Given the description of an element on the screen output the (x, y) to click on. 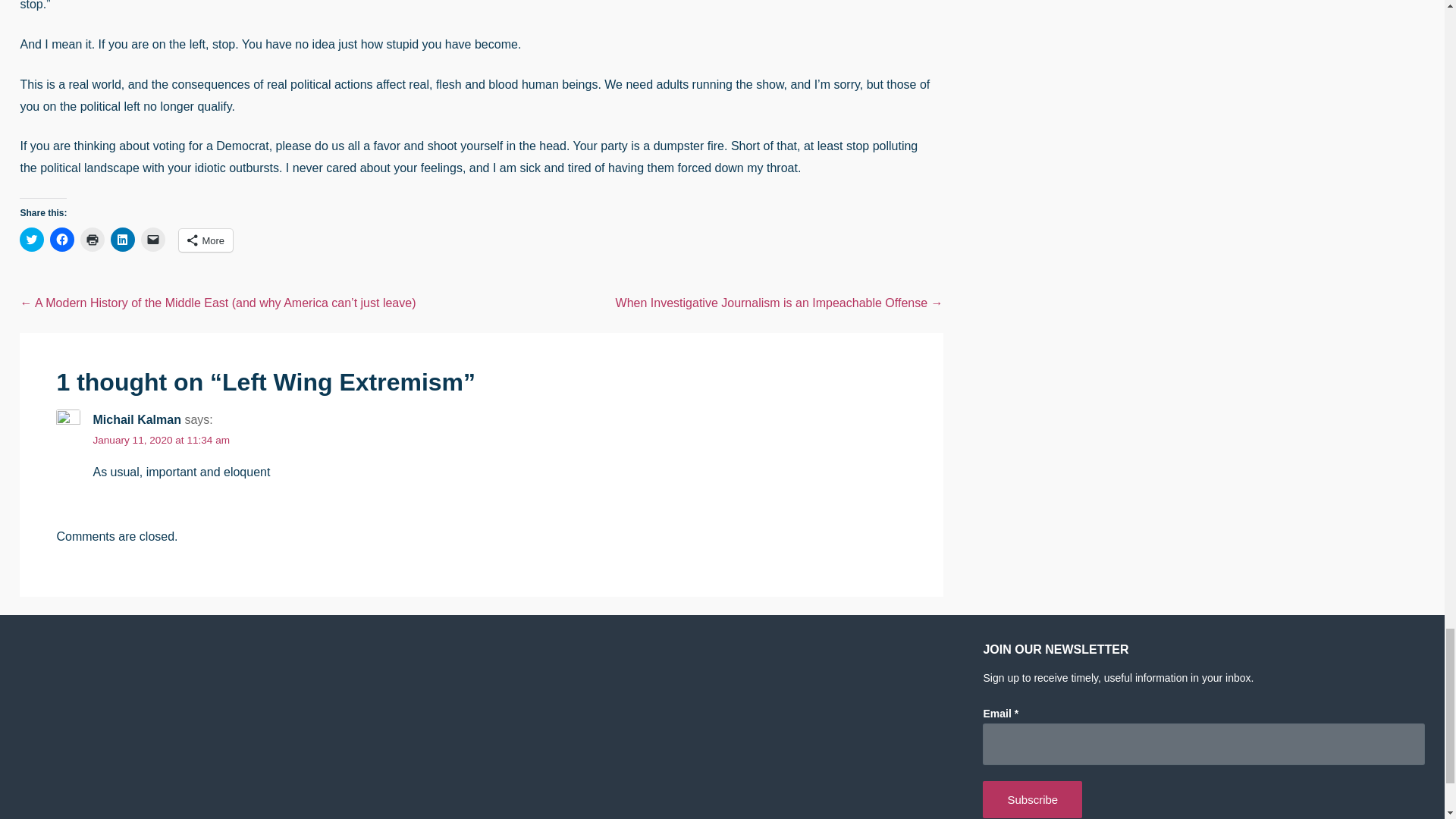
More (205, 240)
Click to print (92, 239)
Click to share on LinkedIn (122, 239)
Click to share on Facebook (61, 239)
Click to email a link to a friend (153, 239)
Subscribe (1031, 799)
Click to share on Twitter (31, 239)
January 11, 2020 at 11:34 am (161, 439)
